Given the description of an element on the screen output the (x, y) to click on. 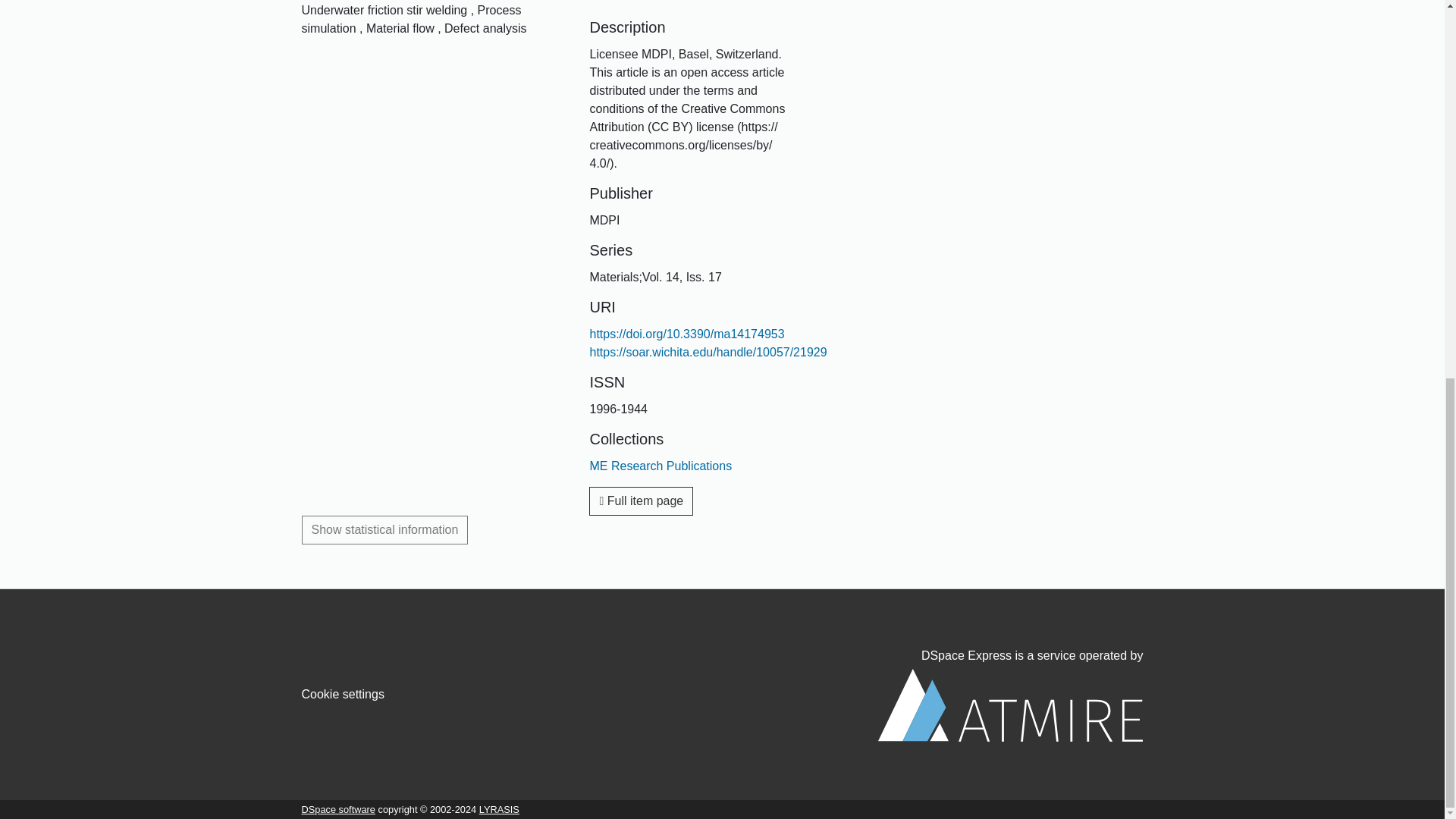
ME Research Publications (660, 465)
Cookie settings (342, 694)
Full item page (641, 500)
Show statistical information (384, 529)
DSpace software (338, 808)
DSpace Express is a service operated by (1009, 695)
LYRASIS (499, 808)
